Given the description of an element on the screen output the (x, y) to click on. 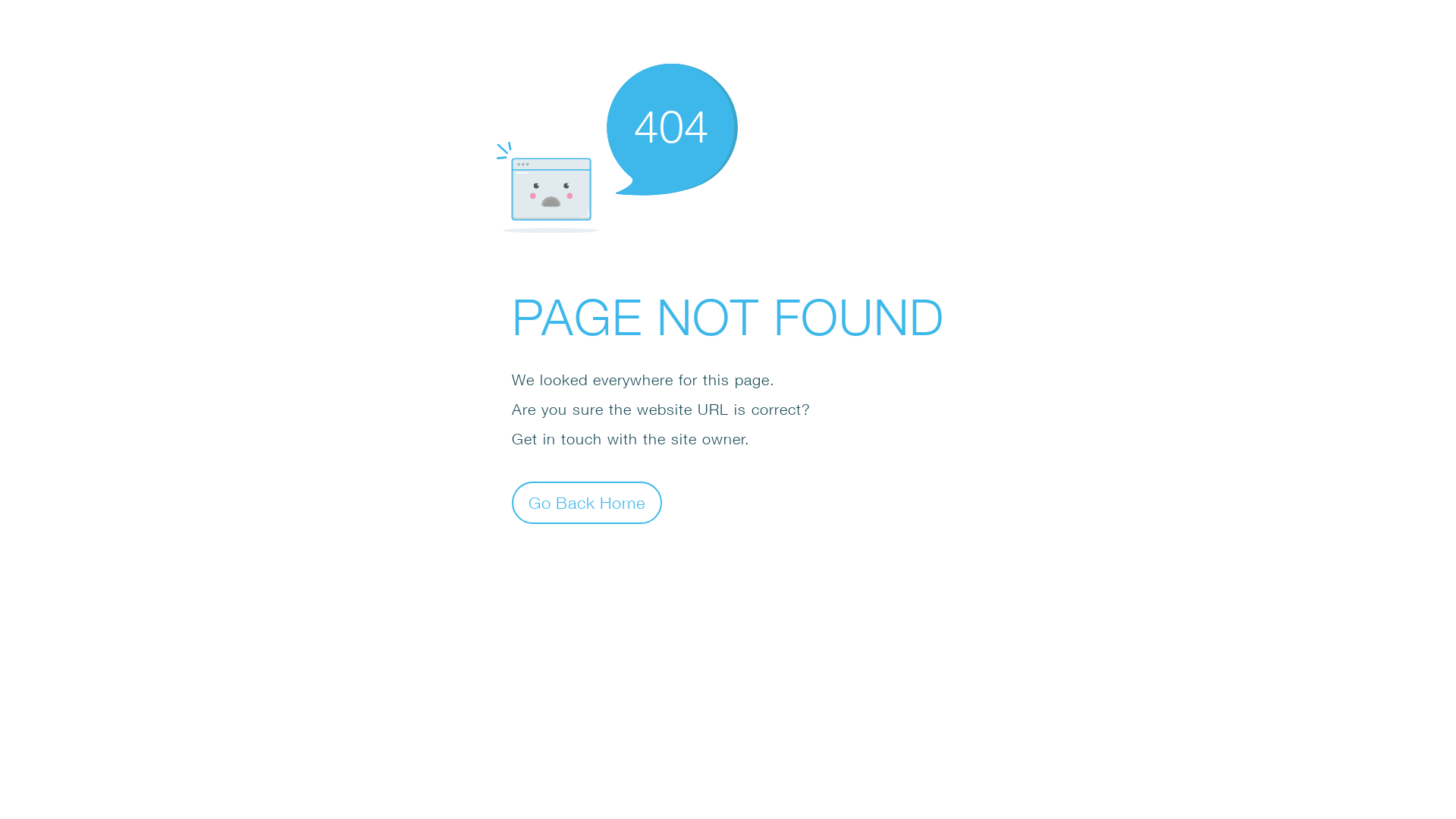
Go Back Home Element type: text (586, 502)
